Given the description of an element on the screen output the (x, y) to click on. 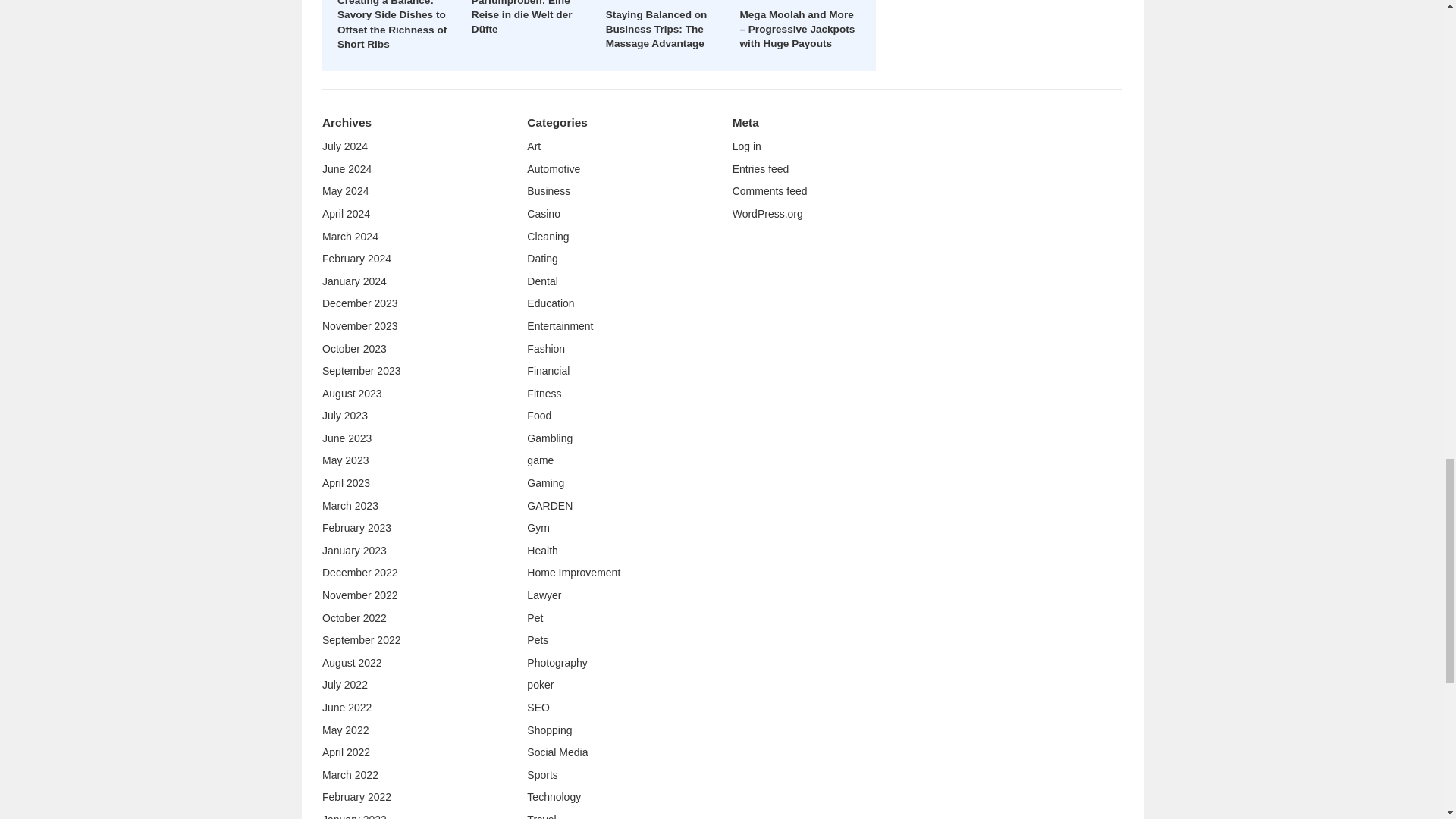
Staying Balanced on Business Trips: The Massage Advantage (656, 29)
